Given the description of an element on the screen output the (x, y) to click on. 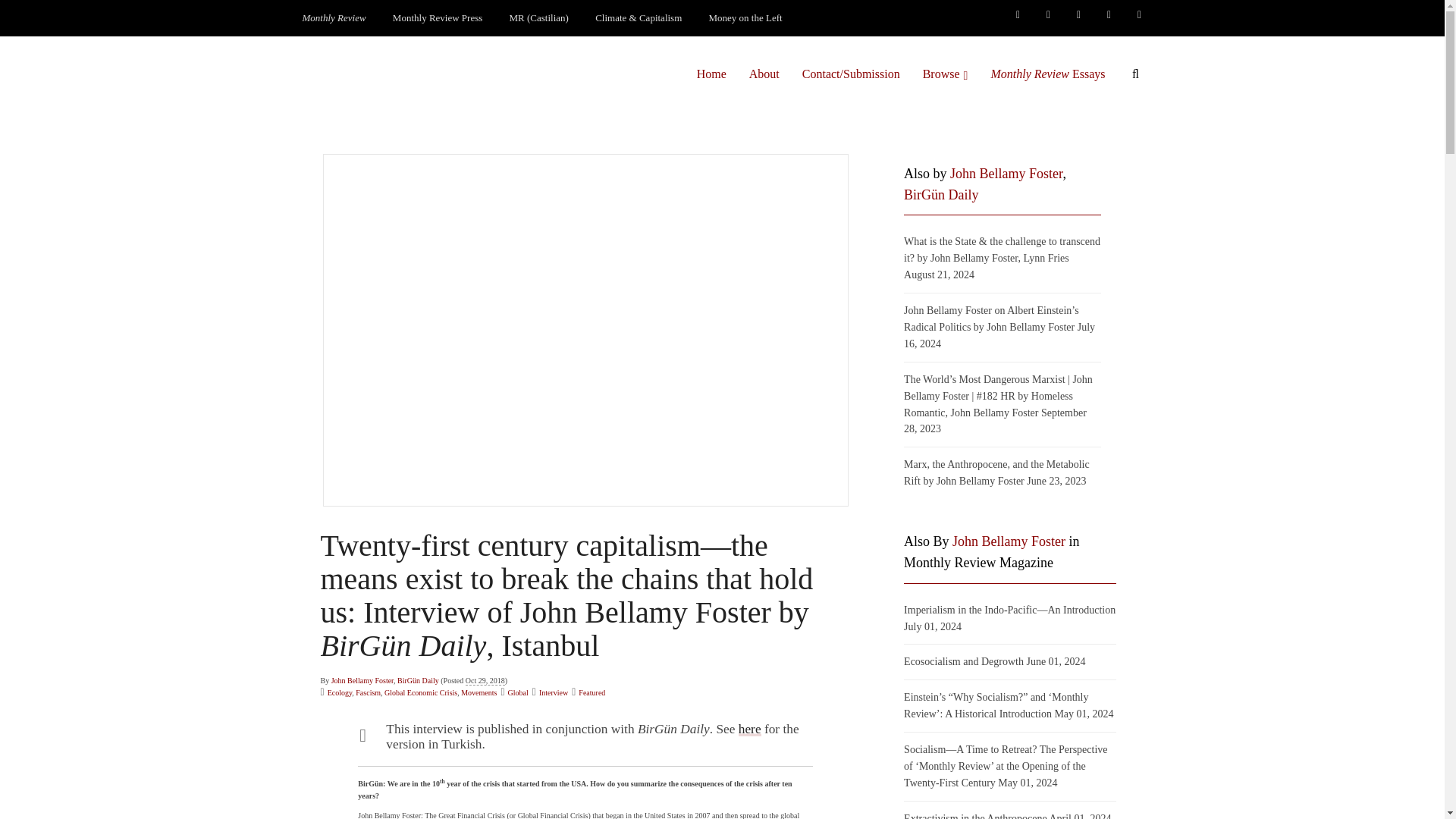
Money on the Left (745, 18)
Monthly Review Magazine (333, 18)
Browse (945, 74)
Monthly Review Press (437, 18)
Monthly Review (333, 18)
